Given the description of an element on the screen output the (x, y) to click on. 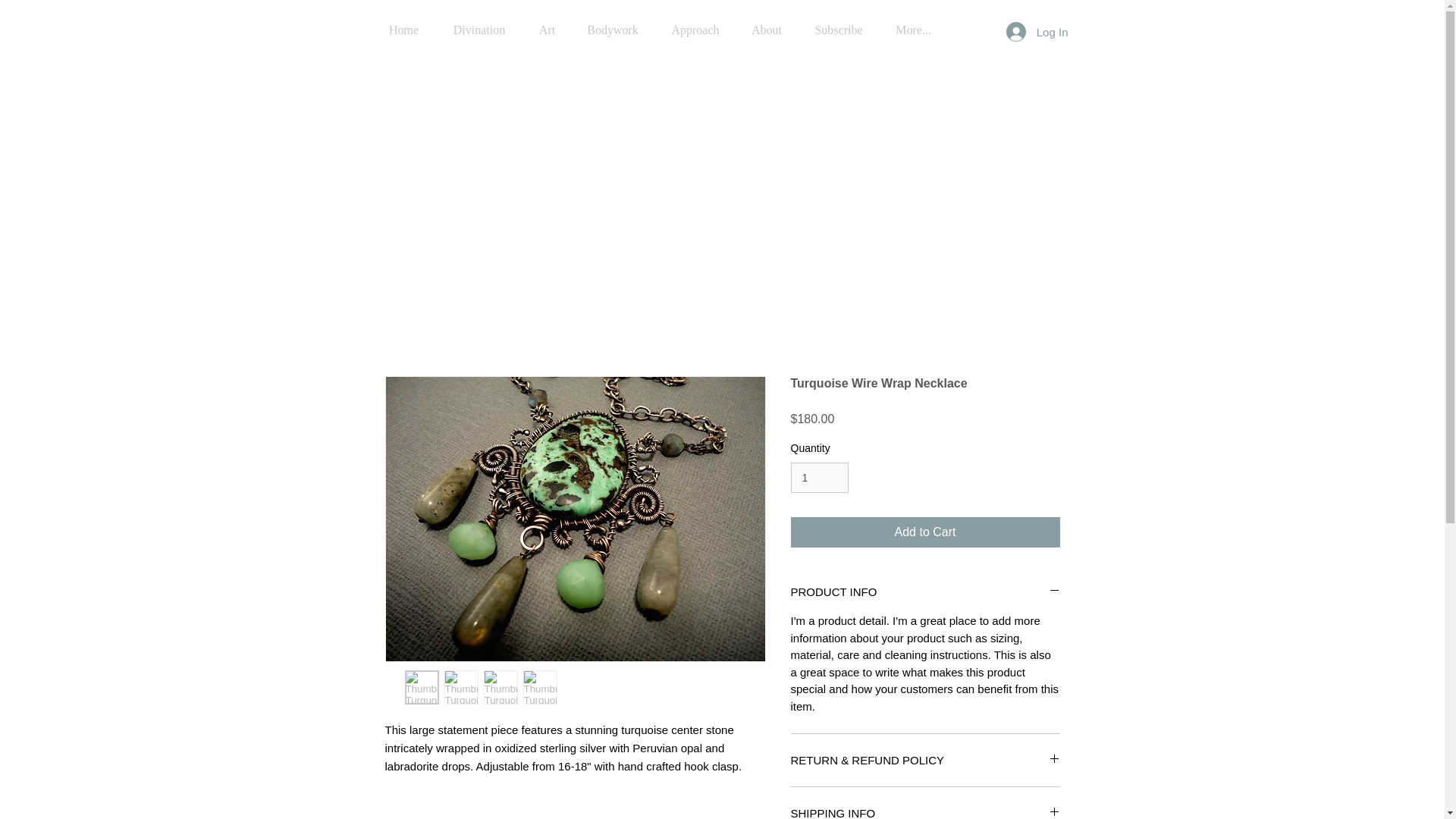
Log In (1036, 31)
SHIPPING INFO (924, 812)
1 (818, 477)
Subscribe (838, 23)
PRODUCT INFO (924, 591)
Home (403, 23)
Divination (479, 23)
Add to Cart (924, 531)
Approach (695, 23)
About (765, 23)
